Given the description of an element on the screen output the (x, y) to click on. 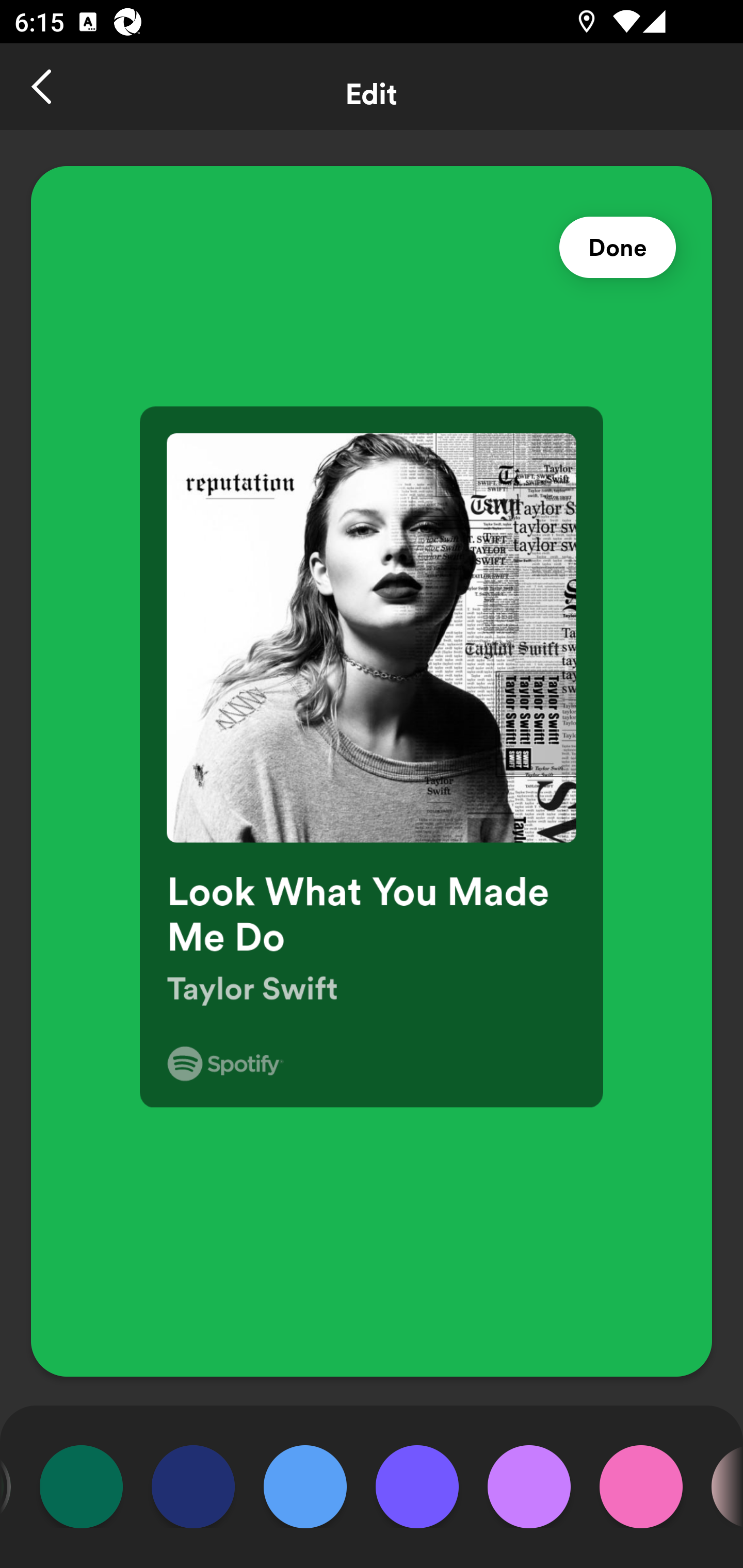
Close the Now Playing View (43, 86)
Done (617, 247)
